Given the description of an element on the screen output the (x, y) to click on. 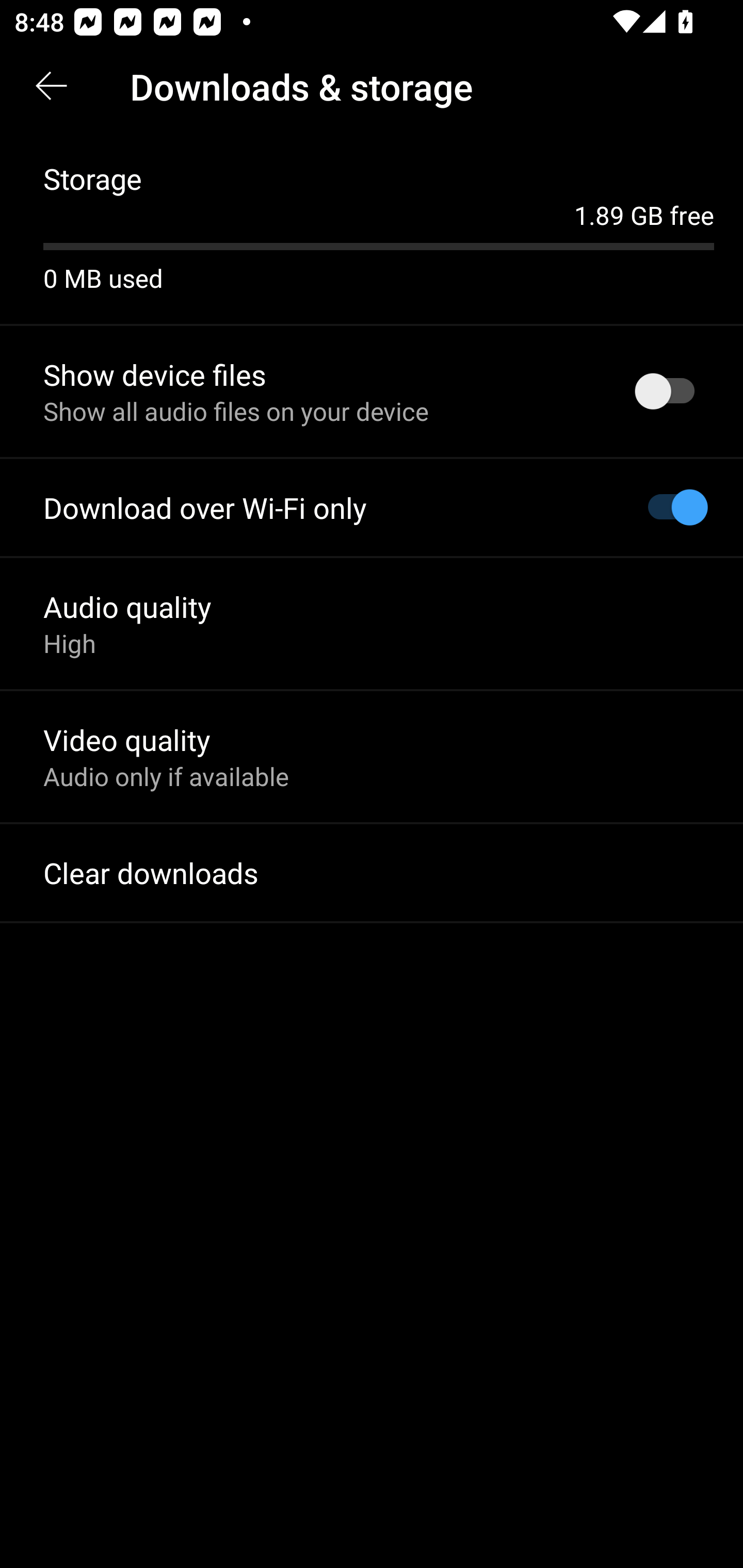
Back (50, 86)
Download over Wi-Fi only (371, 507)
Audio quality High (371, 623)
Video quality Audio only if available (371, 756)
Clear downloads (371, 872)
